Given the description of an element on the screen output the (x, y) to click on. 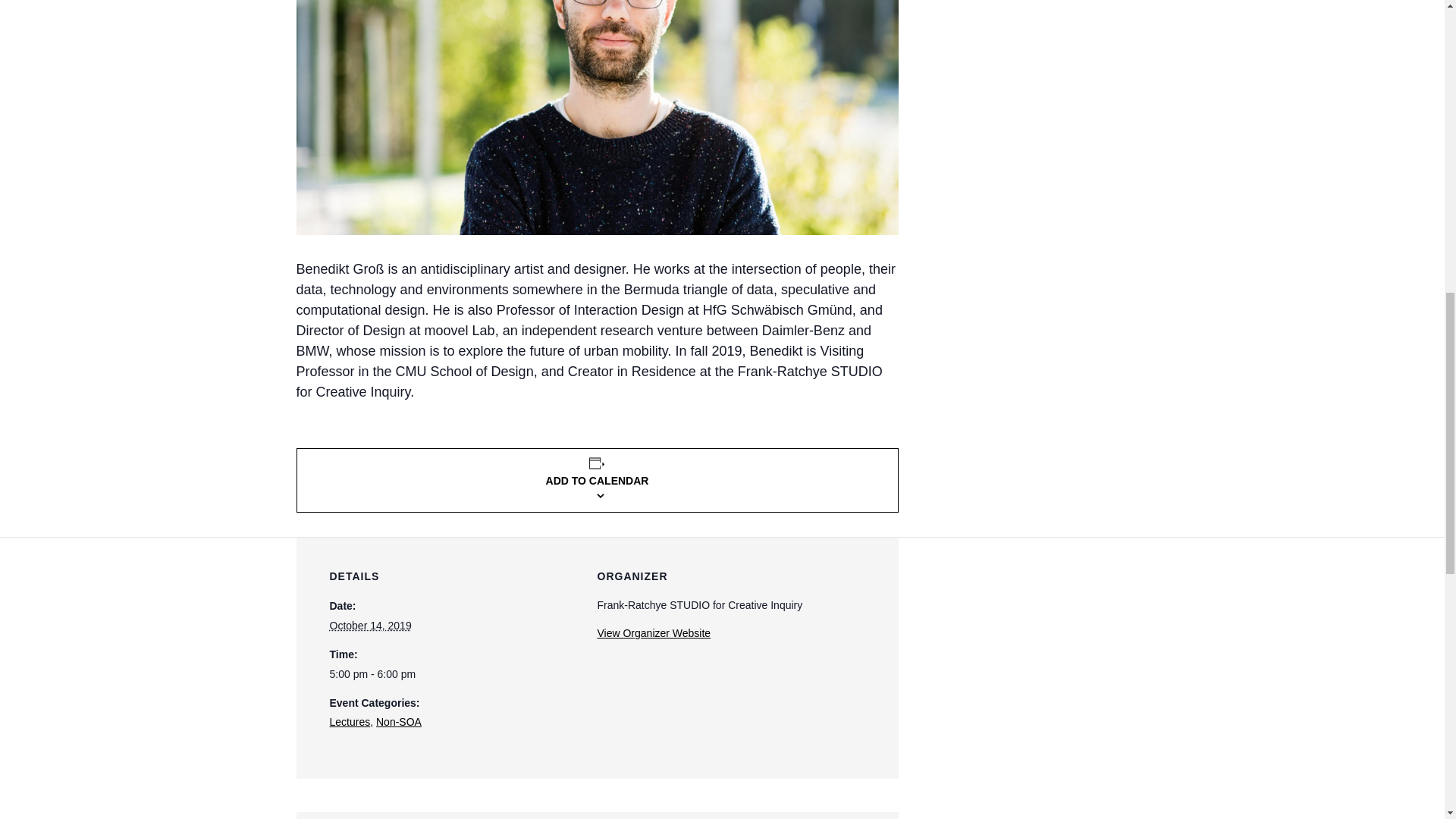
2019-10-14 (453, 674)
2019-10-14 (369, 625)
